Given the description of an element on the screen output the (x, y) to click on. 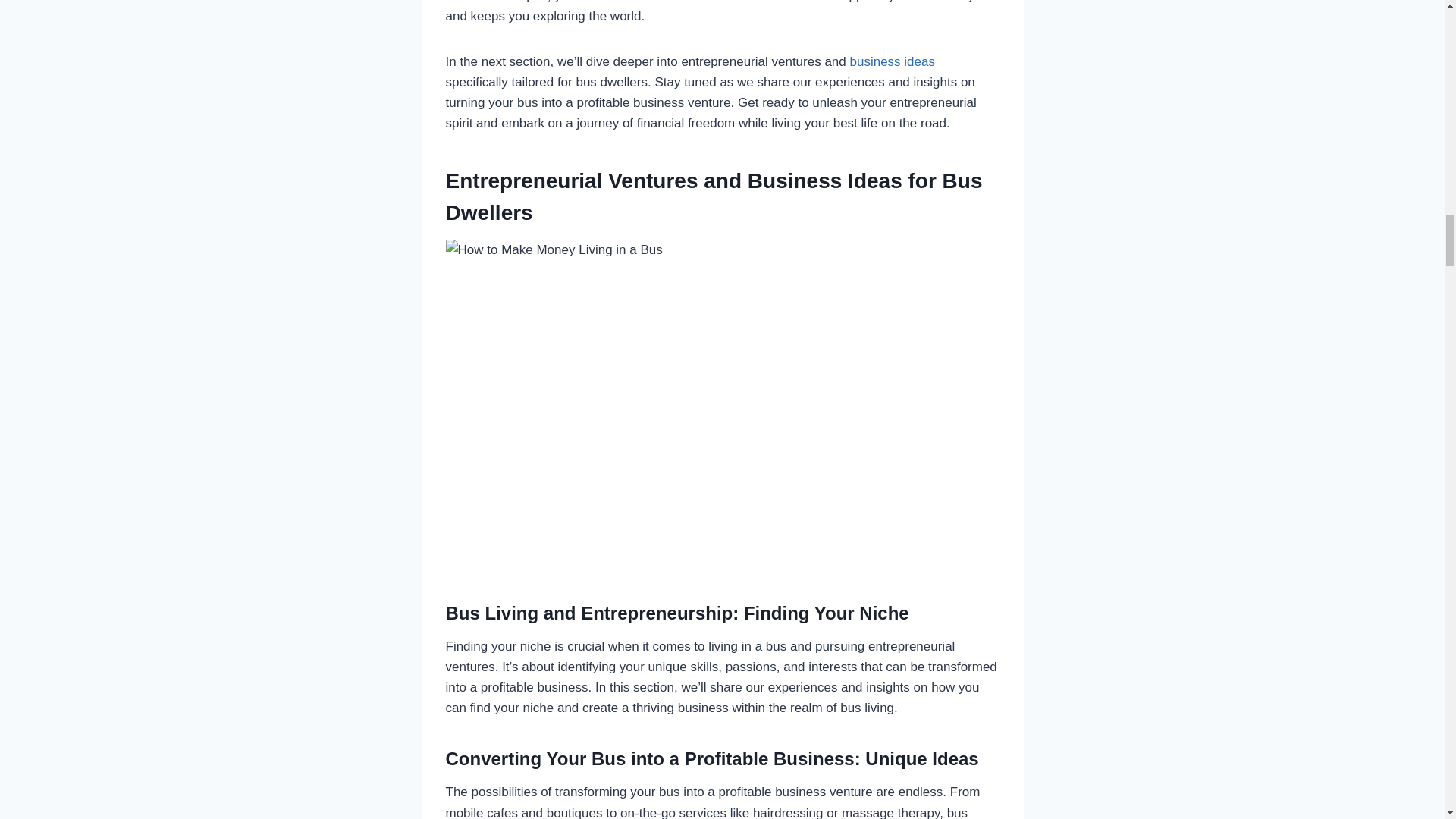
business ideas (891, 61)
business ideas (891, 61)
